Given the description of an element on the screen output the (x, y) to click on. 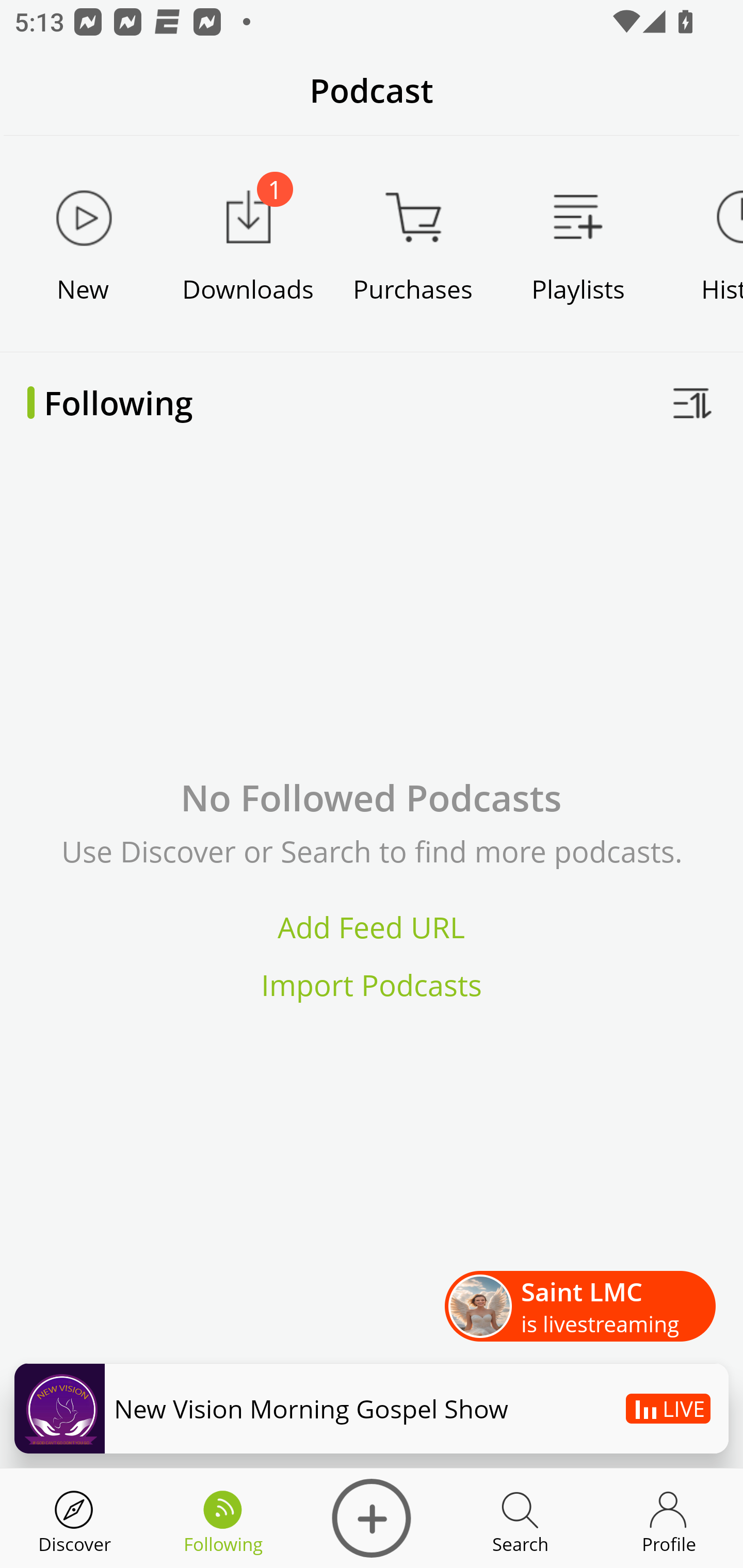
Add Feed URL (371, 927)
Import Podcasts (371, 984)
Saint LMC is livestreaming (580, 1306)
Podbean New Vision Morning Gospel Show LIVE (371, 1407)
Discover (74, 1518)
Discover (371, 1518)
Discover Search (519, 1518)
Discover Profile (668, 1518)
